Given the description of an element on the screen output the (x, y) to click on. 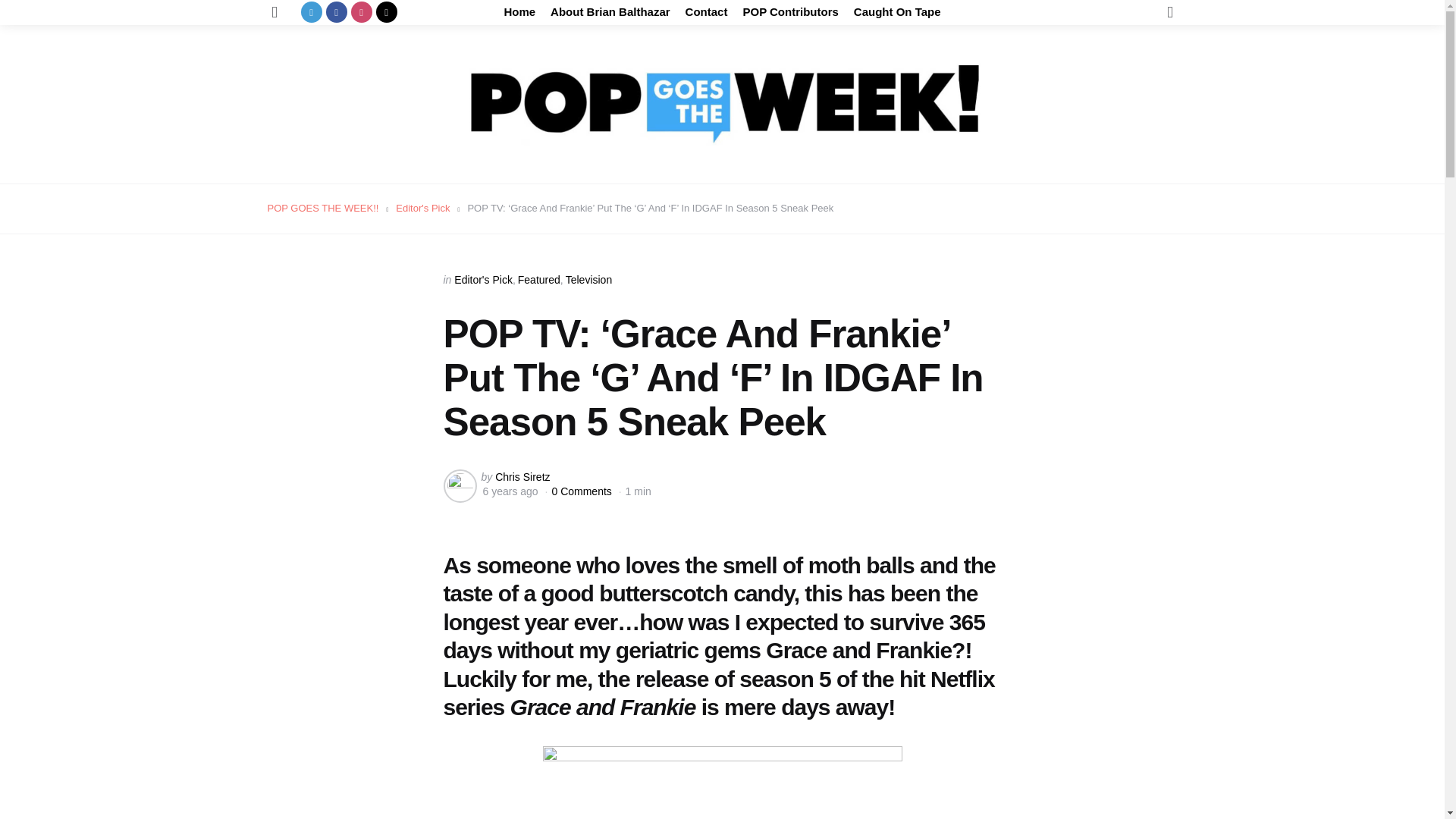
Editor's Pick (422, 207)
Editor's Pick (483, 279)
Featured (539, 279)
Go to the Editor's Pick Category archives. (422, 207)
POP Contributors (790, 12)
Home (519, 12)
POP GOES THE WEEK!! (322, 207)
Go to POP GOES THE WEEK!!. (322, 207)
Caught On Tape (896, 12)
Television (588, 279)
About Brian Balthazar (609, 12)
Contact (706, 12)
